Given the description of an element on the screen output the (x, y) to click on. 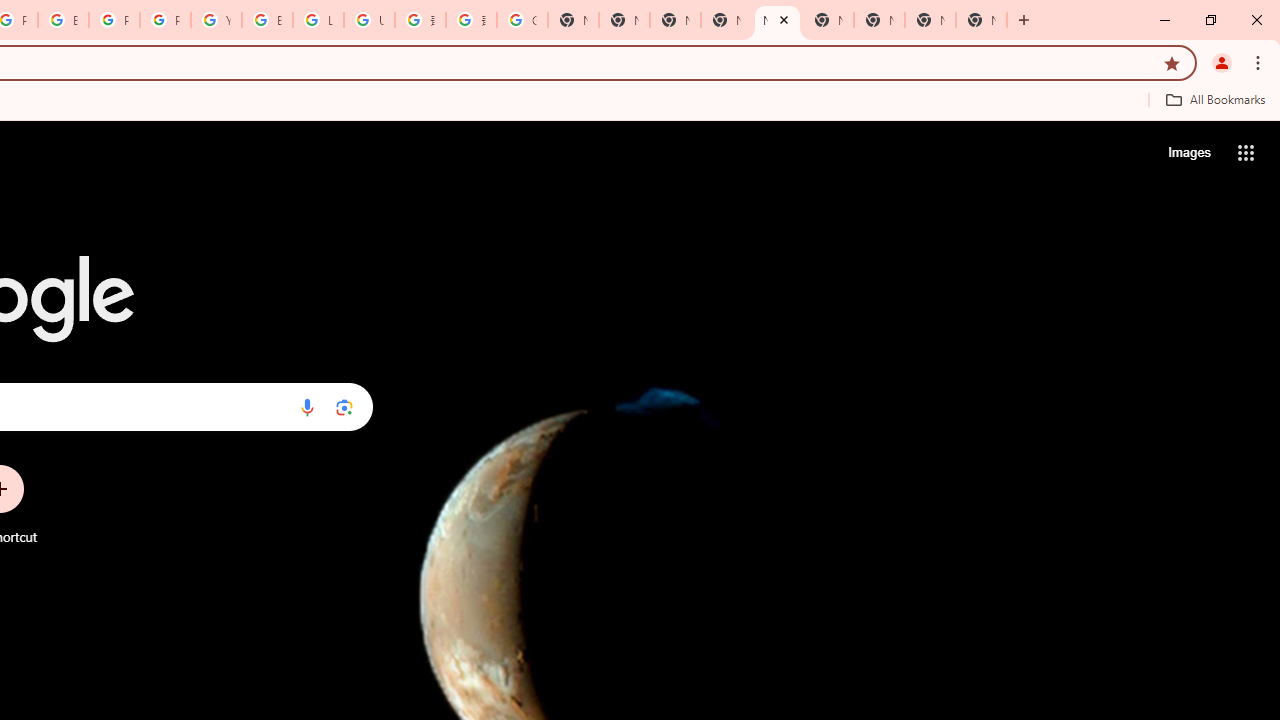
New Tab (726, 20)
New Tab (981, 20)
